Given the description of an element on the screen output the (x, y) to click on. 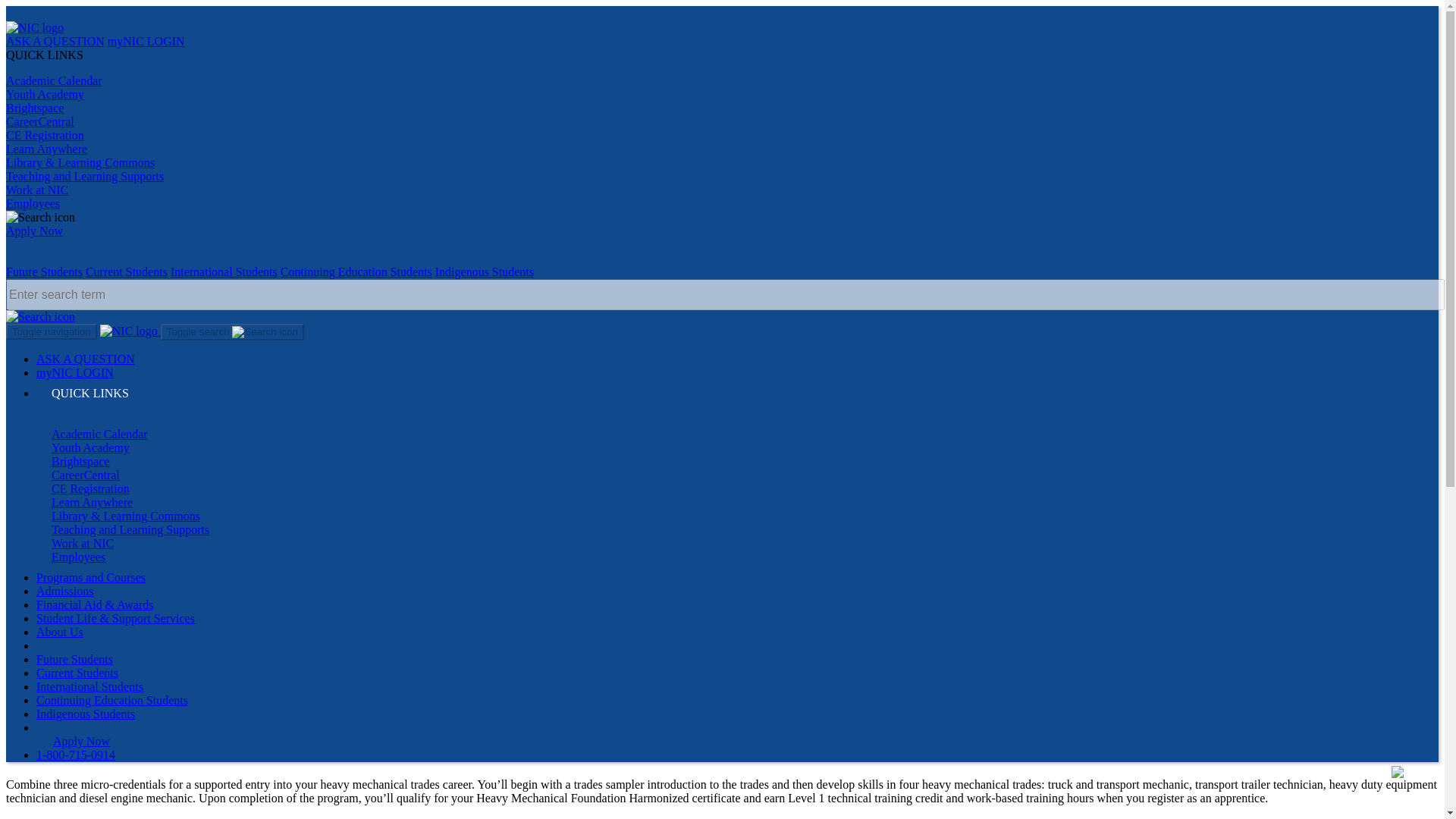
Apply Now (441, 50)
International Students (282, 108)
Enter search term (724, 151)
Current Students (160, 108)
Programs and Courses (1343, 300)
Continuing Education Students (441, 108)
ASK A QUESTION (1343, 218)
myNIC LOGIN (168, 49)
ASK A QUESTION (62, 49)
myNIC LOGIN (1343, 237)
Toggle search (217, 200)
Admissions (1344, 320)
Indigenous Students (596, 108)
Future Students (54, 108)
Toggle navigation (42, 200)
